Given the description of an element on the screen output the (x, y) to click on. 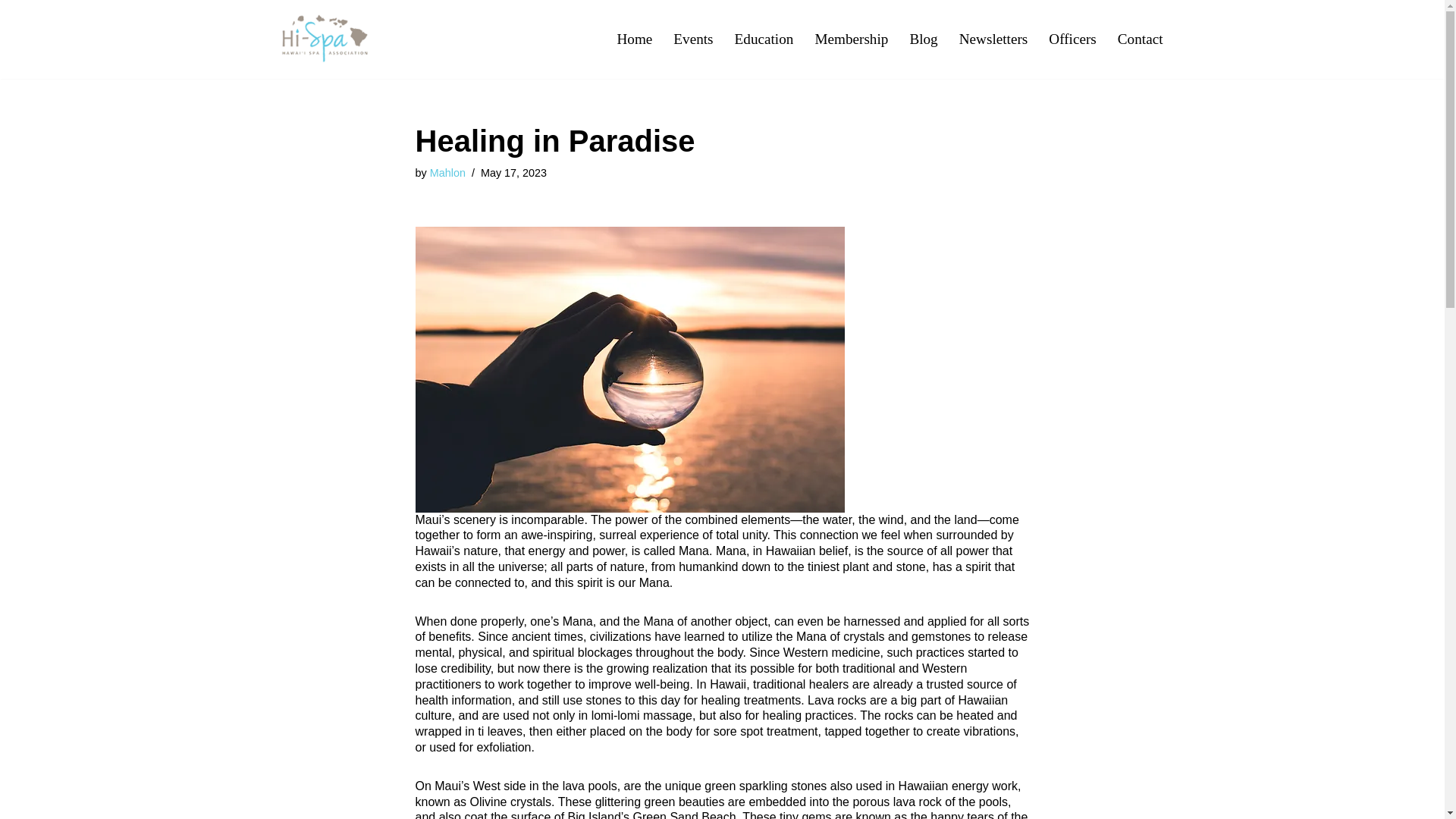
Events (692, 39)
Mahlon (447, 173)
Officers (1072, 39)
Contact (1140, 39)
Membership (850, 39)
Education (764, 39)
Blog (922, 39)
Home (633, 39)
Newsletters (993, 39)
Posts by Mahlon (447, 173)
Skip to content (11, 31)
